Given the description of an element on the screen output the (x, y) to click on. 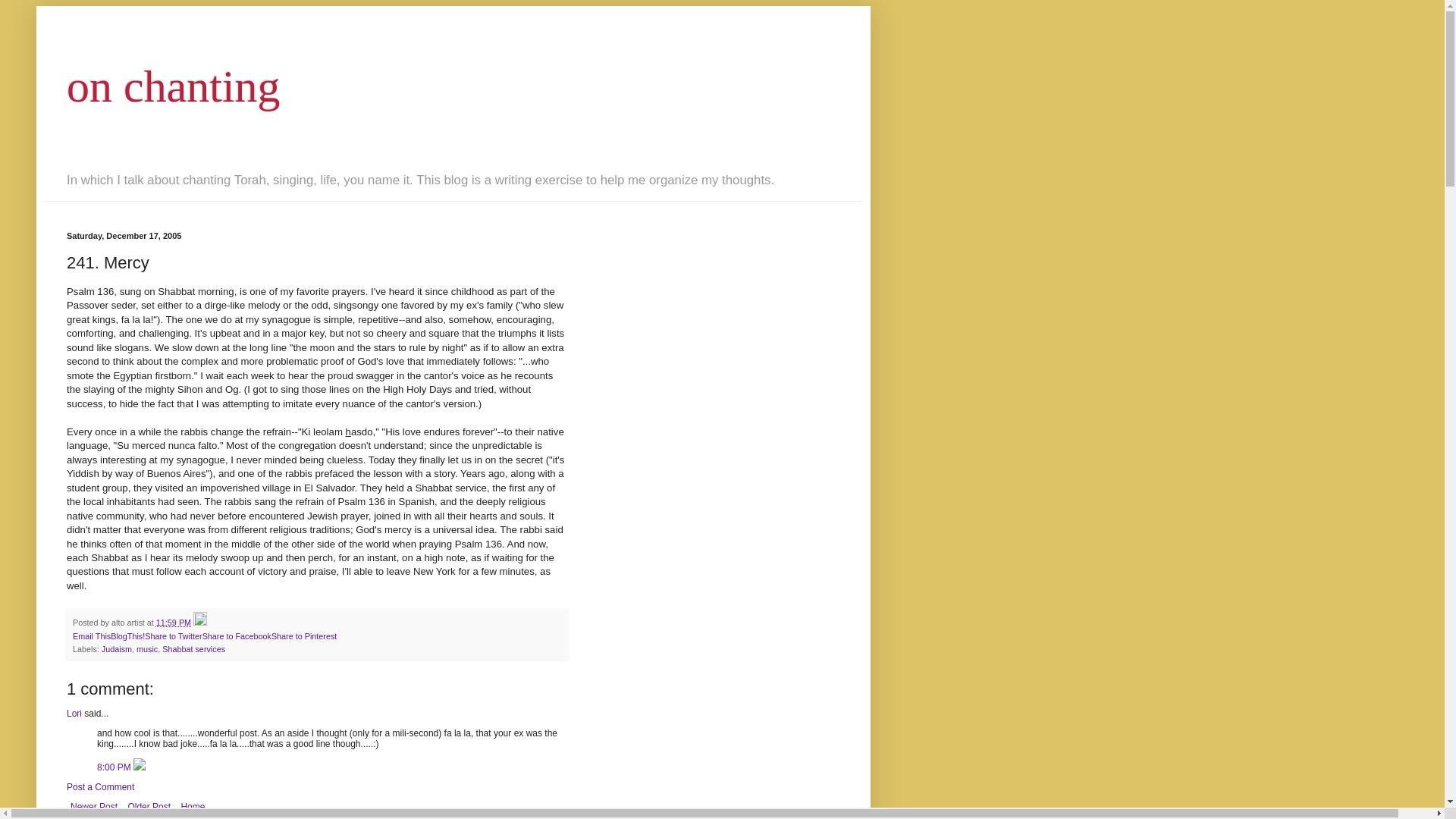
Share to Pinterest (303, 635)
comment permalink (115, 767)
on chanting (173, 86)
Share to Facebook (236, 635)
Lori (73, 713)
Newer Post (93, 806)
Post a Comment (99, 787)
Share to Twitter (173, 635)
music (146, 648)
Delete Comment (139, 767)
Share to Pinterest (303, 635)
8:00 PM (115, 767)
Shabbat services (193, 648)
Older Post (148, 806)
Share to Facebook (236, 635)
